Given the description of an element on the screen output the (x, y) to click on. 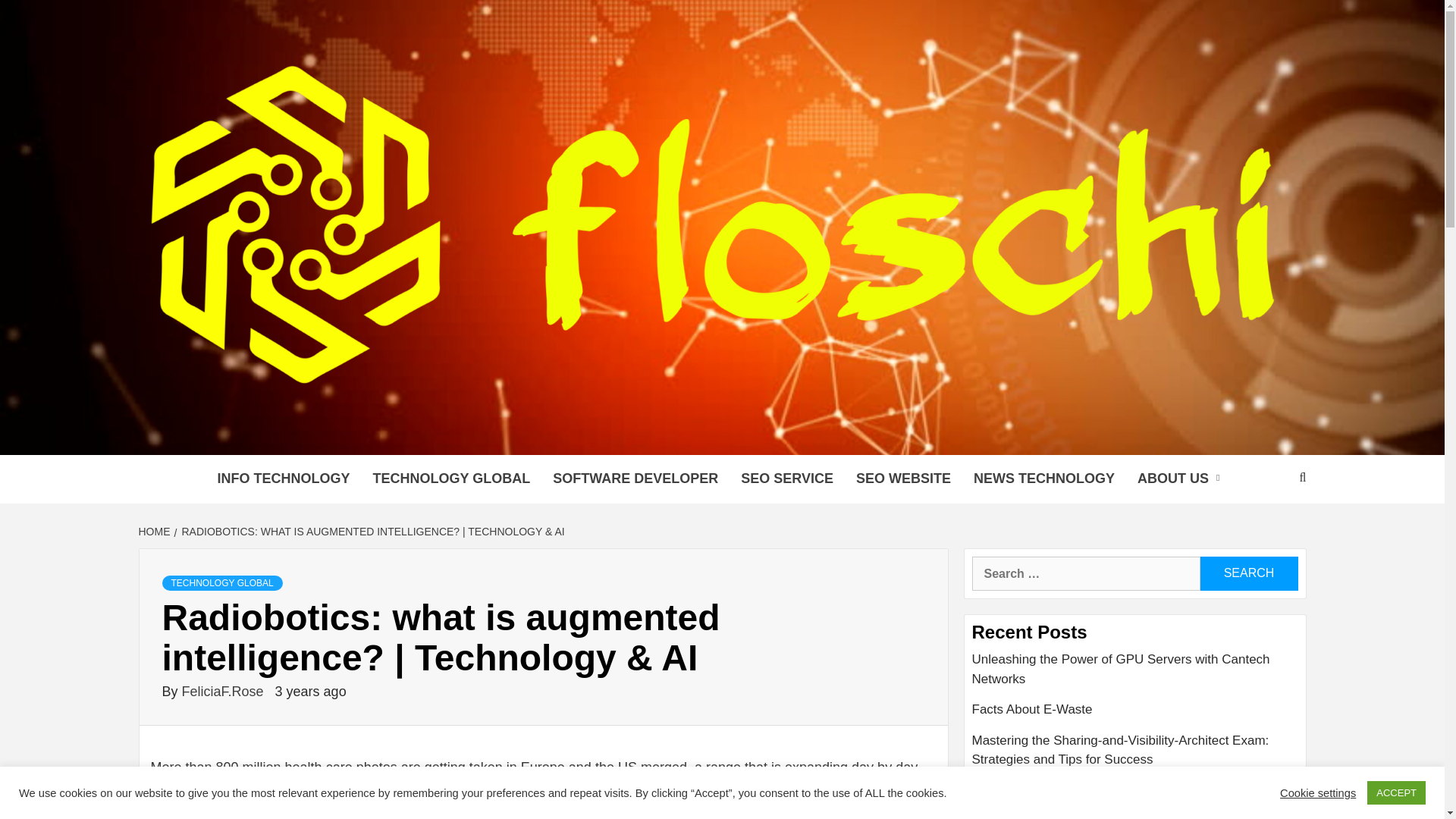
FeliciaF.Rose (224, 691)
Search (1248, 573)
SEO WEBSITE (903, 478)
ABOUT US (1182, 478)
Unleashing the Power of GPU Servers with Cantech Networks (1135, 675)
TECHNOLOGY GLOBAL (221, 582)
Search (1248, 573)
TECHNOLOGY GLOBAL (451, 478)
Search (1248, 573)
Facts About E-Waste (1135, 715)
SOFTWARE DEVELOPER (635, 478)
INFO TECHNOLOGY (283, 478)
SEO SERVICE (786, 478)
NEWS TECHNOLOGY (1043, 478)
